Given the description of an element on the screen output the (x, y) to click on. 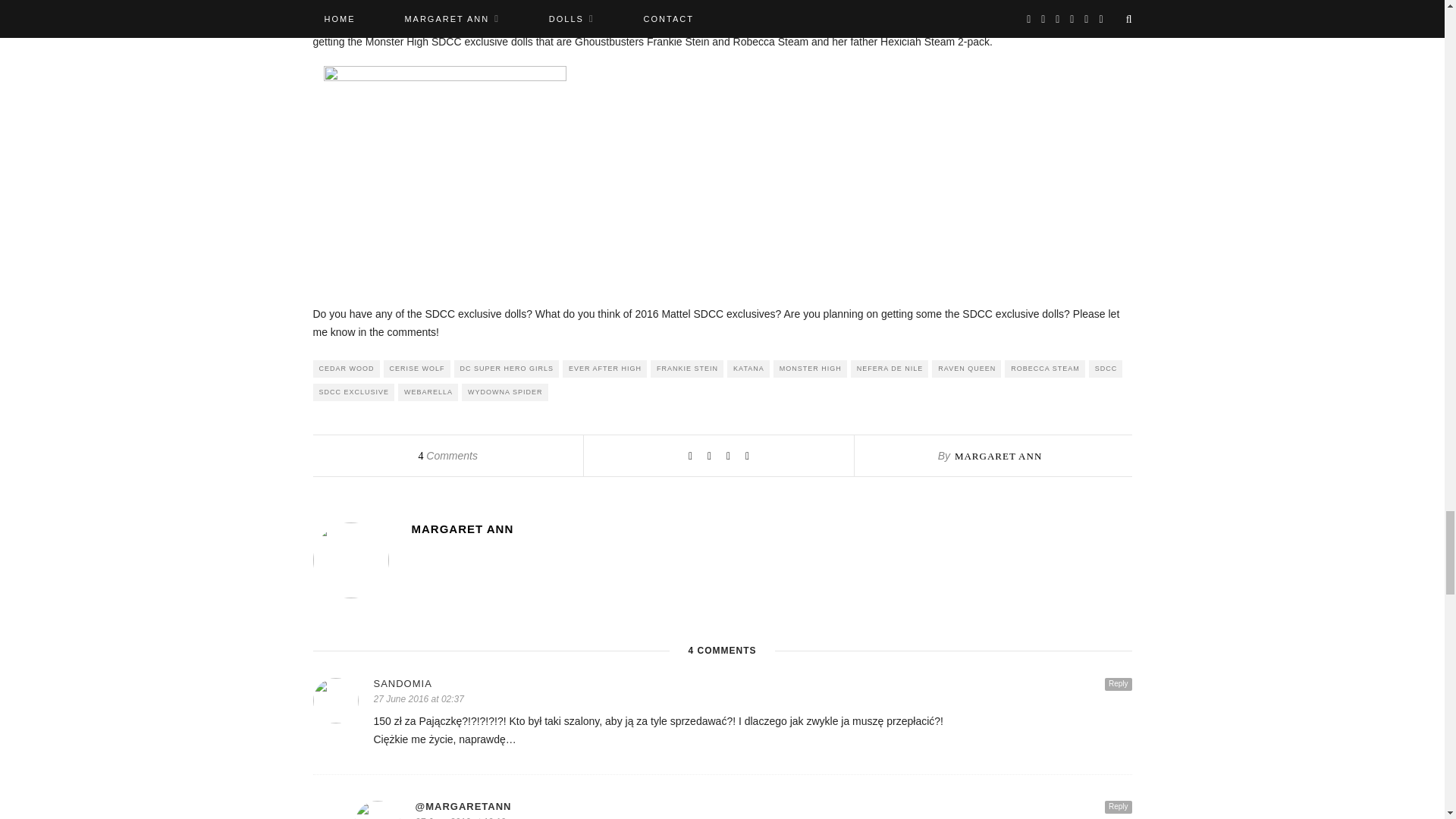
Posts by Margaret Ann (998, 455)
Posts by Margaret Ann (770, 528)
